Given the description of an element on the screen output the (x, y) to click on. 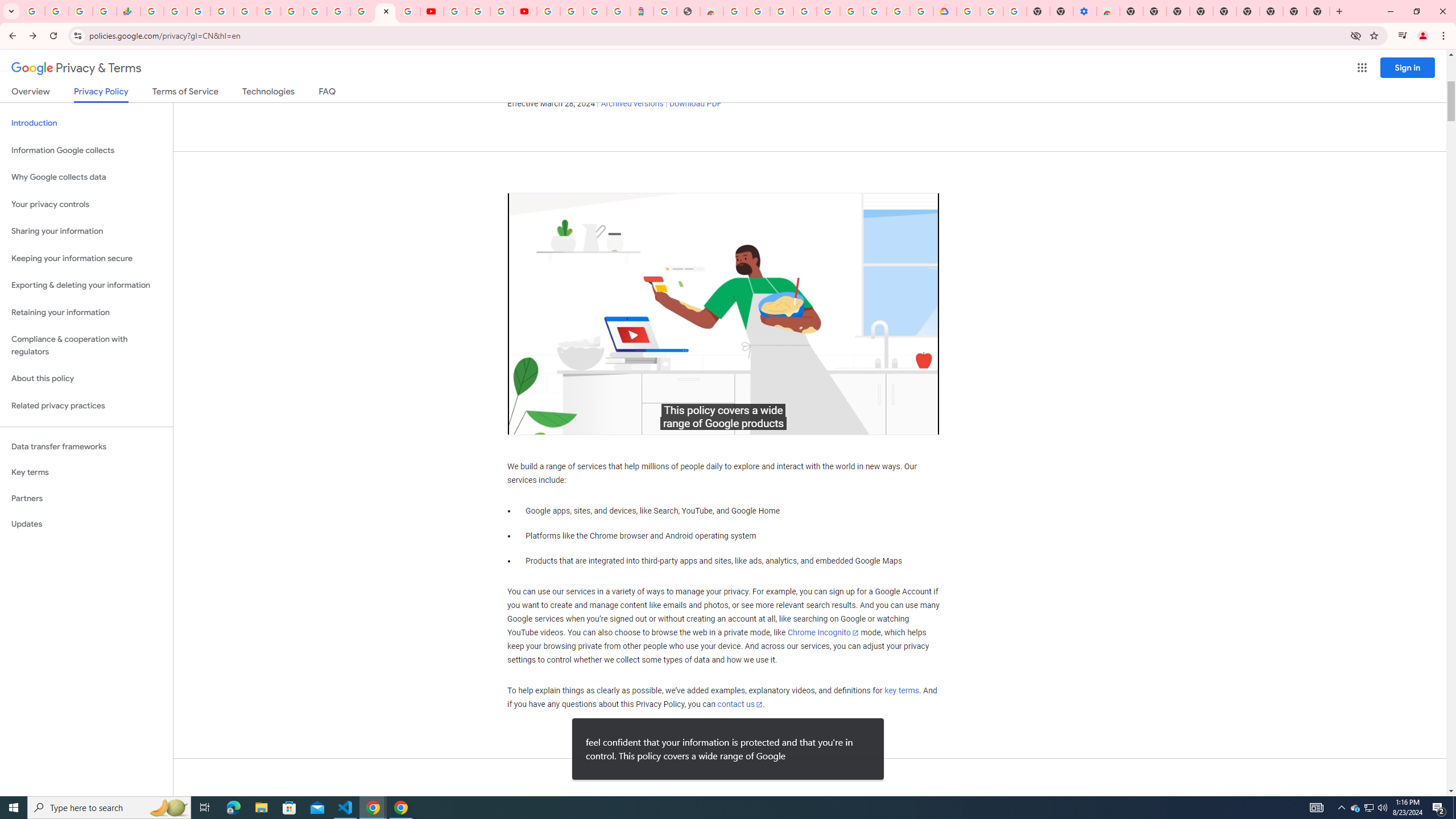
Chrome Web Store - Accessibility extensions (1108, 11)
Copy link (909, 209)
Create your Google Account (897, 11)
Create your Google Account (757, 11)
Content Creator Programs & Opportunities - YouTube Creators (524, 11)
Atour Hotel - Google hotels (641, 11)
Sign in - Google Accounts (547, 11)
YouTube (454, 11)
Mute (m) (551, 422)
Related privacy practices (86, 405)
